Given the description of an element on the screen output the (x, y) to click on. 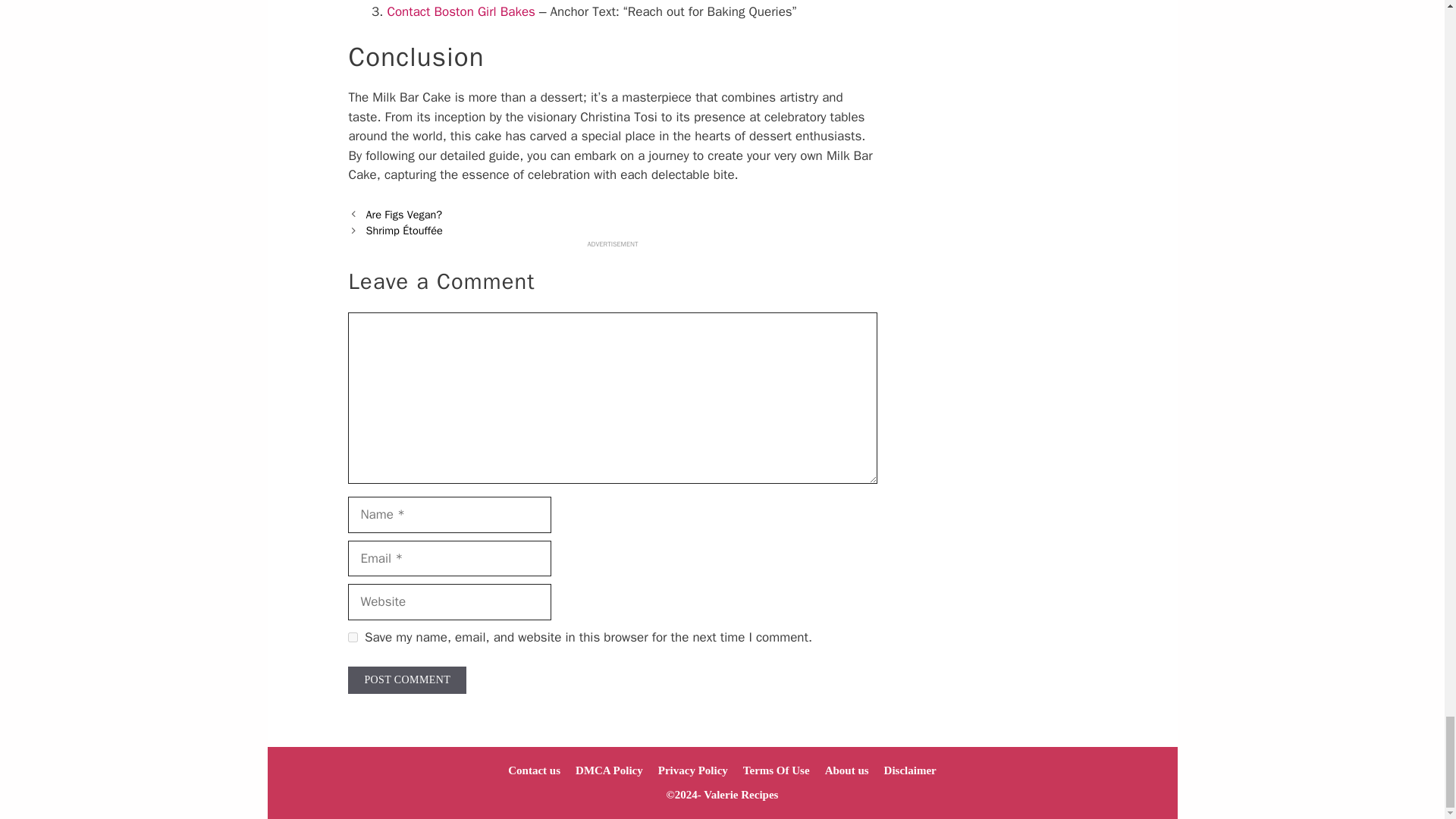
Post Comment (406, 679)
yes (352, 637)
